Given the description of an element on the screen output the (x, y) to click on. 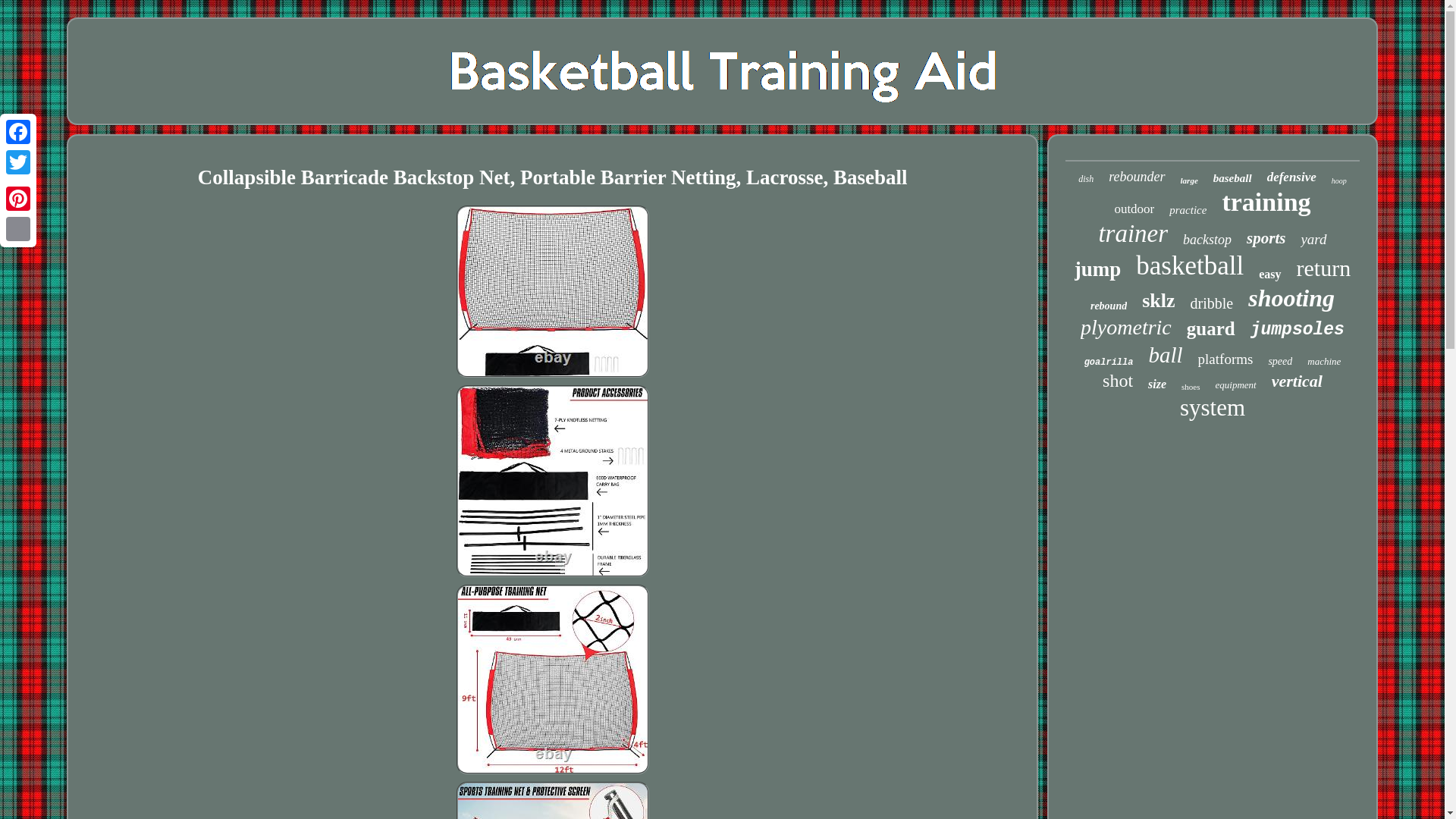
dish (1085, 179)
sports (1265, 238)
yard (1313, 239)
outdoor (1133, 209)
guard (1210, 328)
Email (17, 228)
jump (1097, 269)
basketball (1189, 265)
rebounder (1136, 176)
defensive (1291, 177)
